Given the description of an element on the screen output the (x, y) to click on. 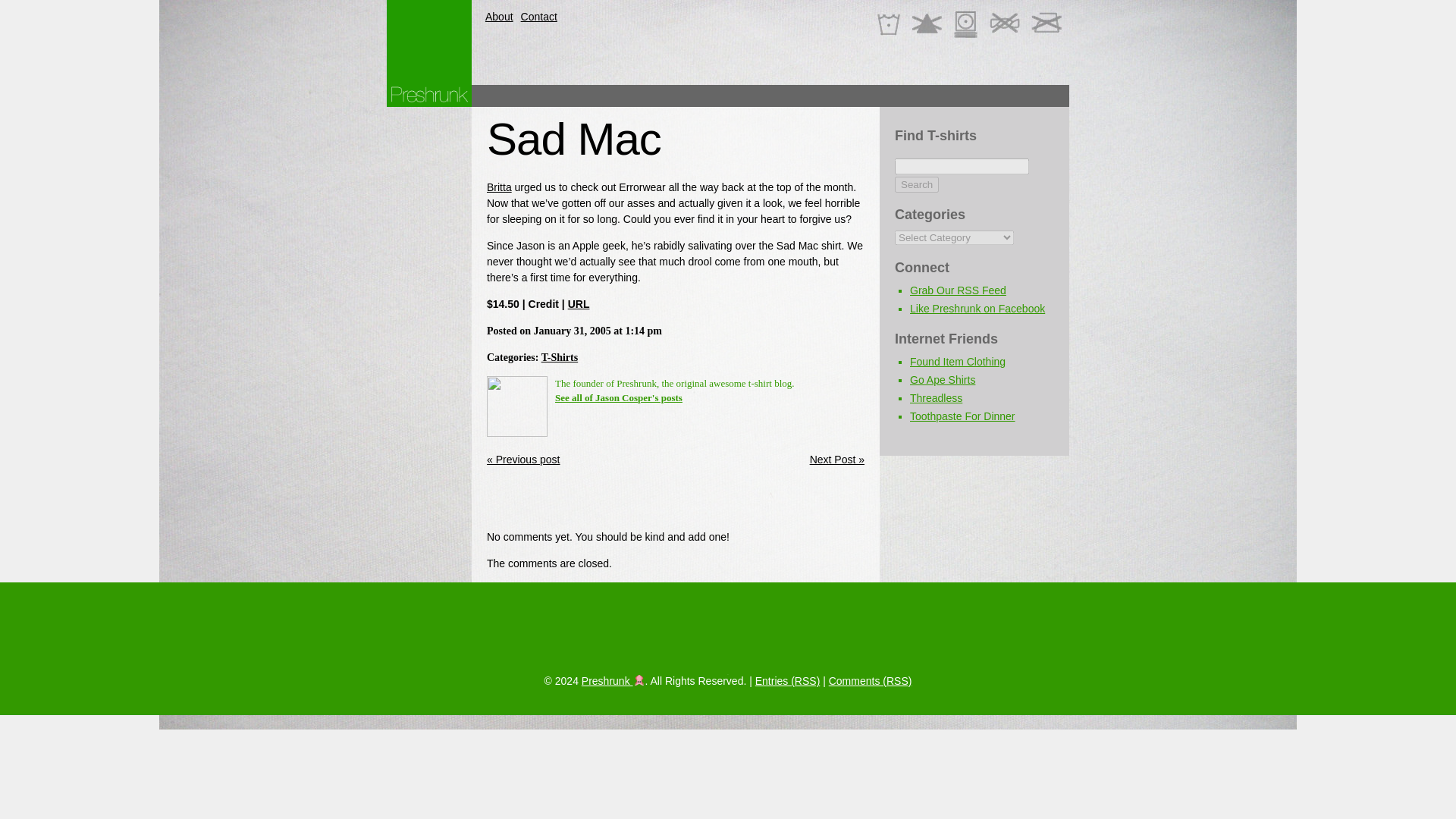
Go Ape Shirts (942, 379)
Britta (499, 186)
Advertisement (663, 501)
Sad Mac (573, 138)
Like Preshrunk on Facebook (977, 308)
T-Shirts (559, 357)
Grab Our RSS Feed (958, 290)
Sad Mac (573, 138)
See all of Jason Cosper's posts (618, 397)
Search (917, 184)
Found Item Clothing (958, 361)
Search (917, 184)
Advertisement (792, 95)
Contact (539, 16)
Preshrunk (612, 680)
